Given the description of an element on the screen output the (x, y) to click on. 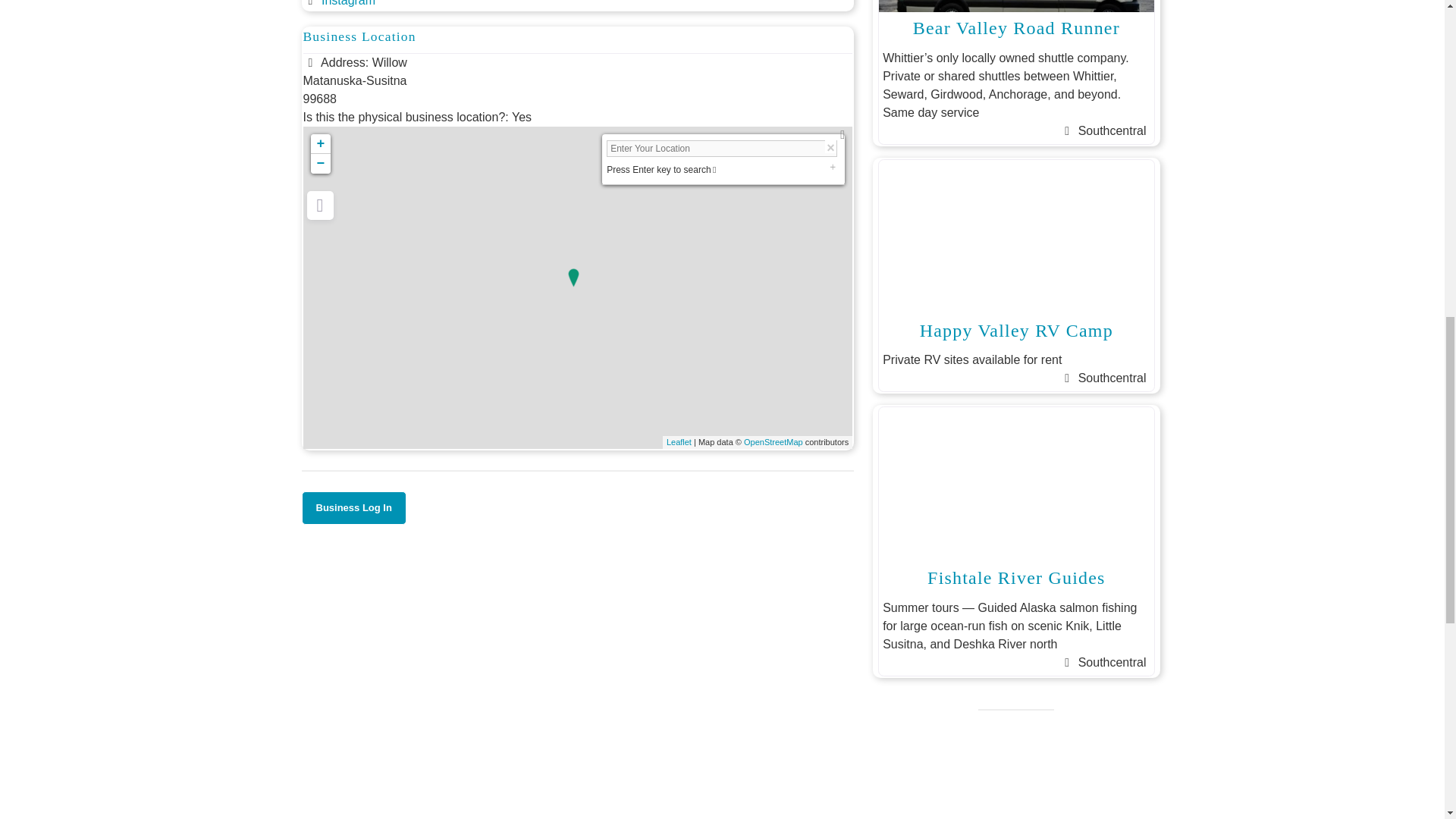
View: Fishtale River Guides (1016, 578)
Zoom out (320, 163)
A JS library for interactive maps (678, 441)
View: Bear Valley Road Runner (1015, 27)
View: Happy Valley RV Camp (1016, 330)
Zoom in (320, 143)
